Given the description of an element on the screen output the (x, y) to click on. 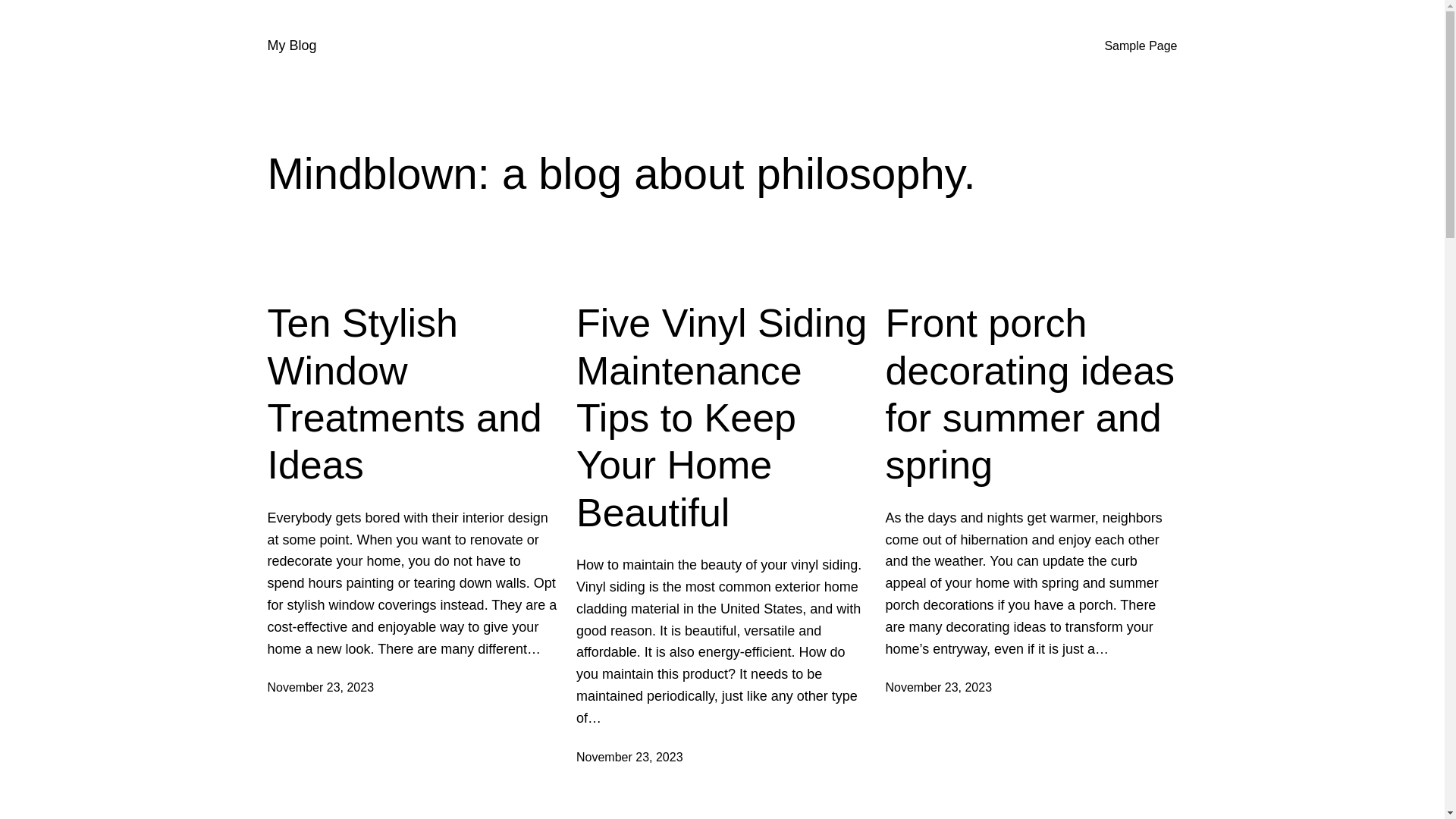
Sample Page Element type: text (1140, 46)
My Blog Element type: text (291, 45)
November 23, 2023 Element type: text (629, 756)
Ten Stylish Window Treatments and Ideas Element type: text (412, 394)
Front porch decorating ideas for summer and spring Element type: text (1031, 394)
November 23, 2023 Element type: text (938, 686)
November 23, 2023 Element type: text (319, 686)
